Given the description of an element on the screen output the (x, y) to click on. 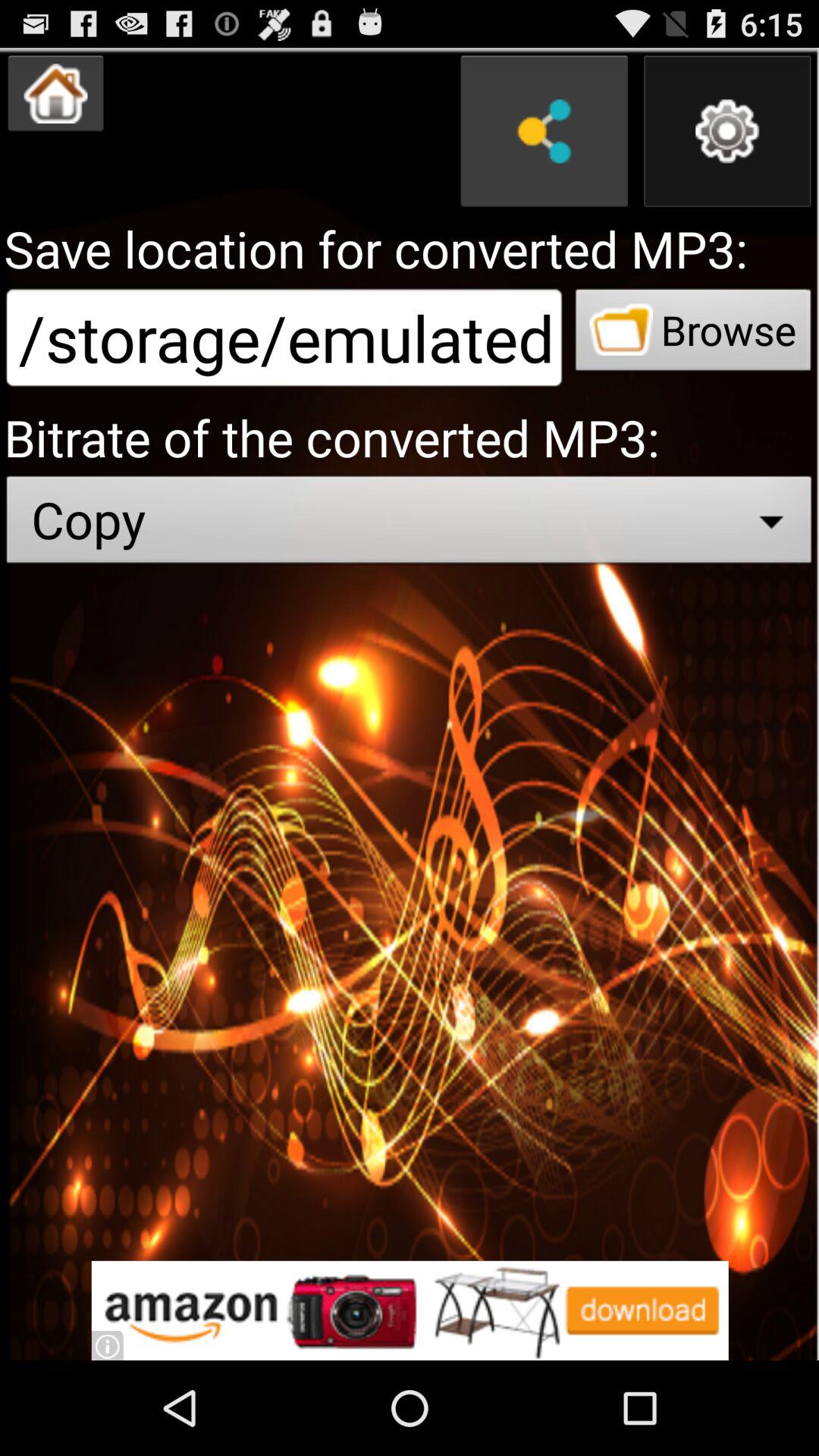
shows the home option (55, 93)
